Given the description of an element on the screen output the (x, y) to click on. 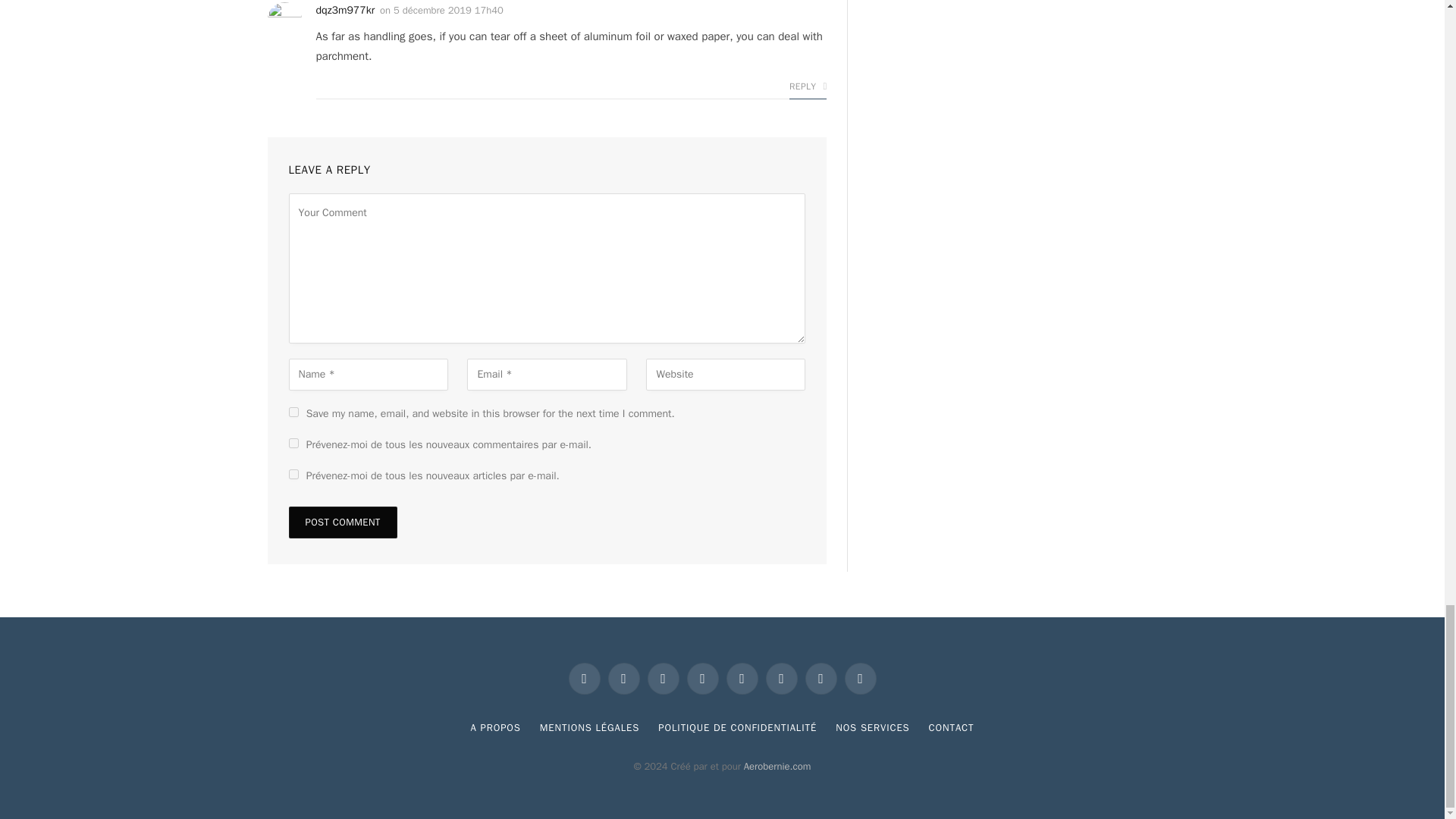
subscribe (293, 442)
Post Comment (342, 522)
subscribe (293, 474)
yes (293, 411)
